Given the description of an element on the screen output the (x, y) to click on. 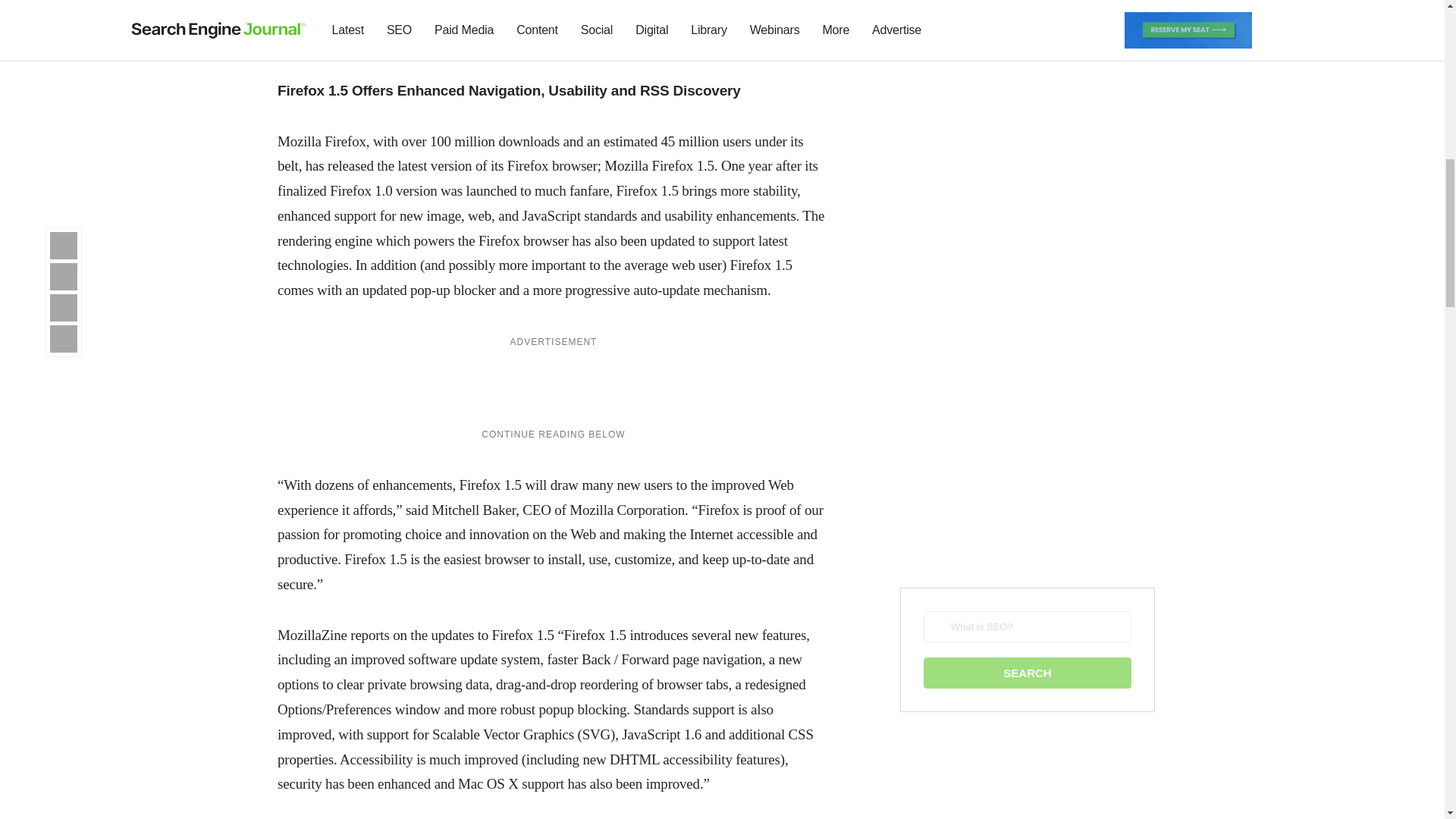
SEARCH (1027, 672)
Special Offer (552, 20)
SEARCH (1027, 672)
